Given the description of an element on the screen output the (x, y) to click on. 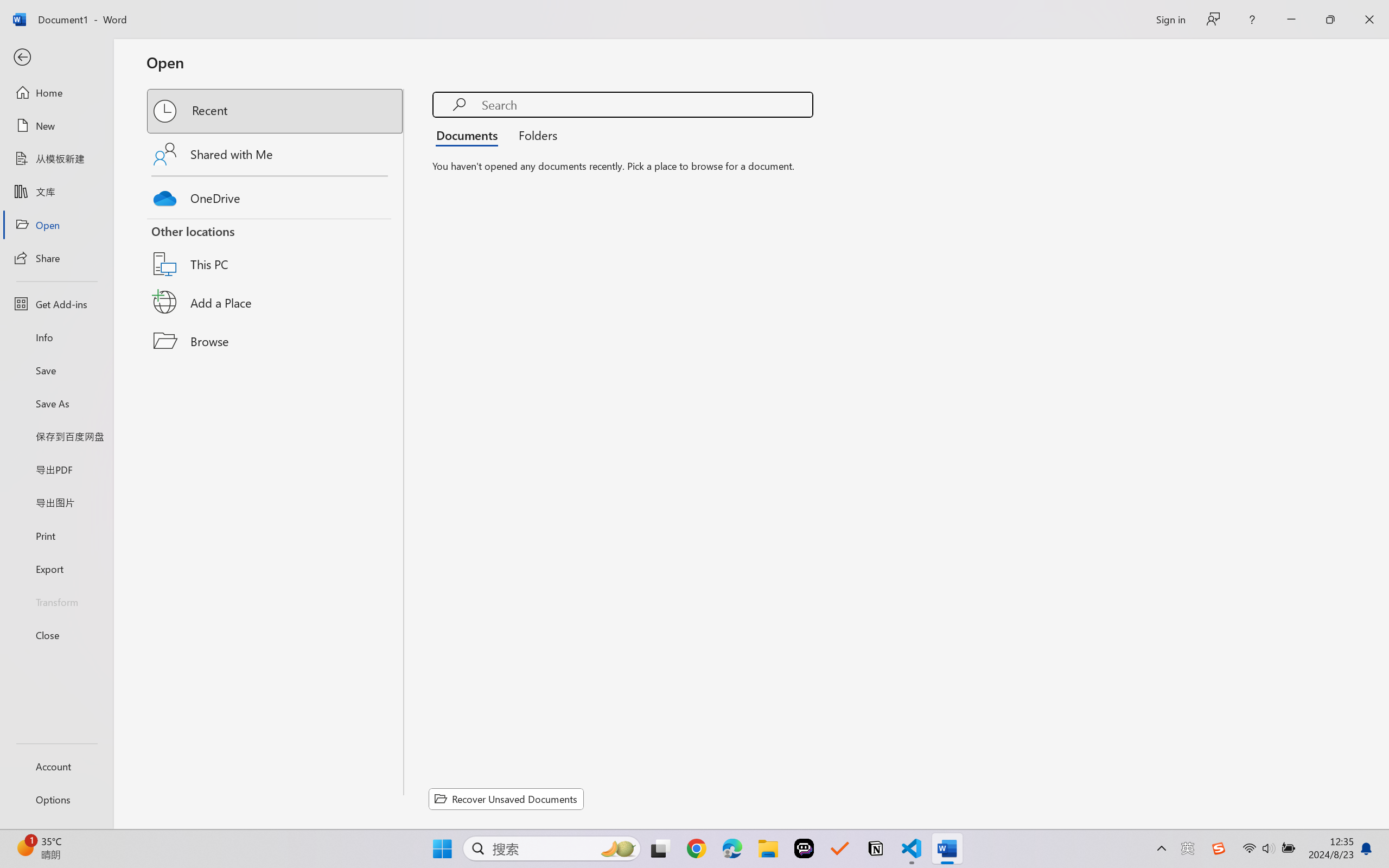
New (56, 125)
Add a Place (275, 302)
This PC (275, 249)
Info (56, 337)
Documents (469, 134)
Folders (534, 134)
Browse (275, 340)
Shared with Me (275, 153)
